Given the description of an element on the screen output the (x, y) to click on. 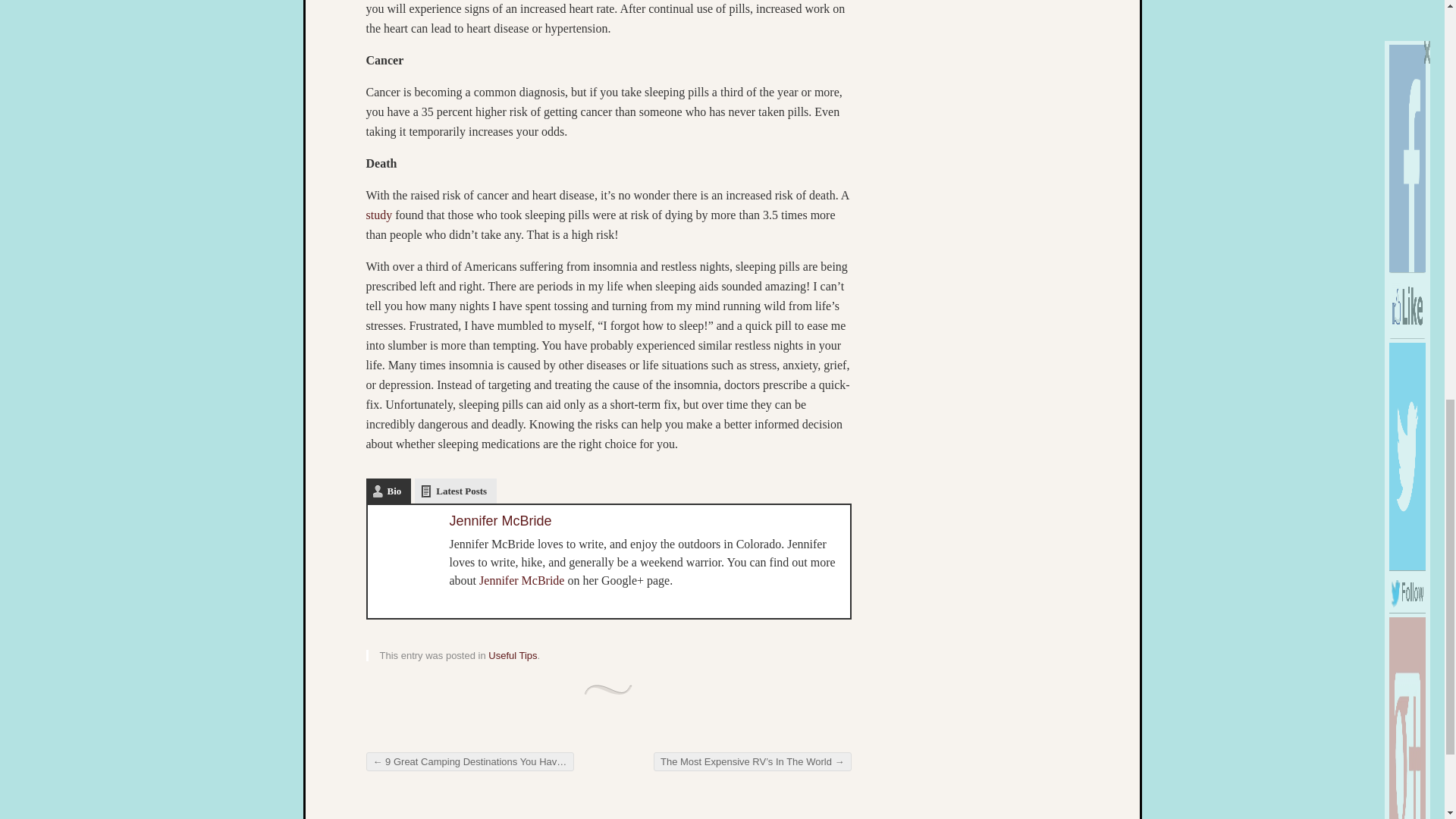
Jennifer McBride (499, 520)
Facebook (405, 596)
Latest Posts (455, 490)
Twitter (386, 596)
Bio (387, 490)
Useful Tips (512, 655)
Jennifer McBride (521, 580)
study (378, 214)
Add Me To Your Circle (1407, 54)
